Given the description of an element on the screen output the (x, y) to click on. 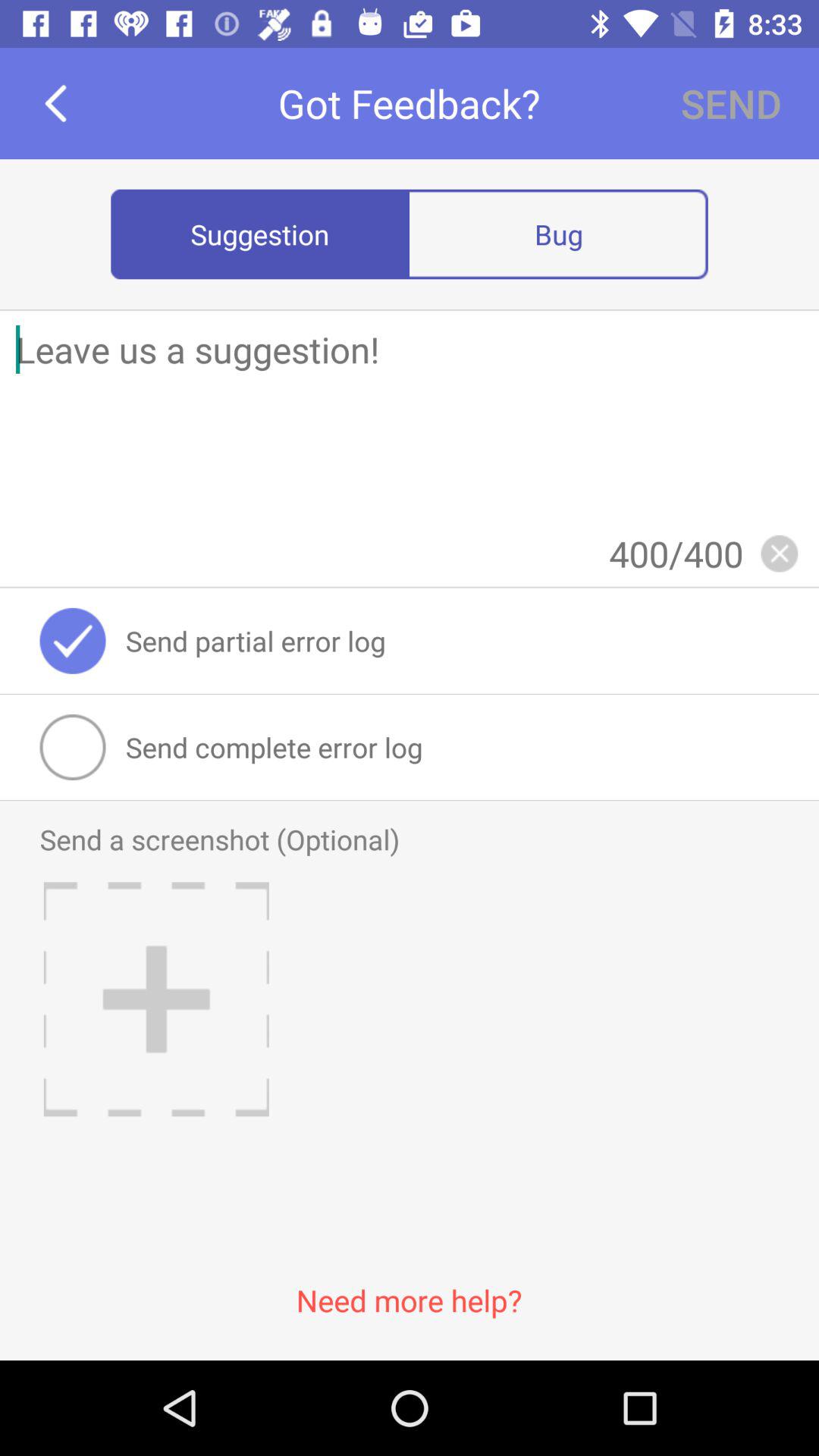
open icon next to the bug (259, 234)
